Given the description of an element on the screen output the (x, y) to click on. 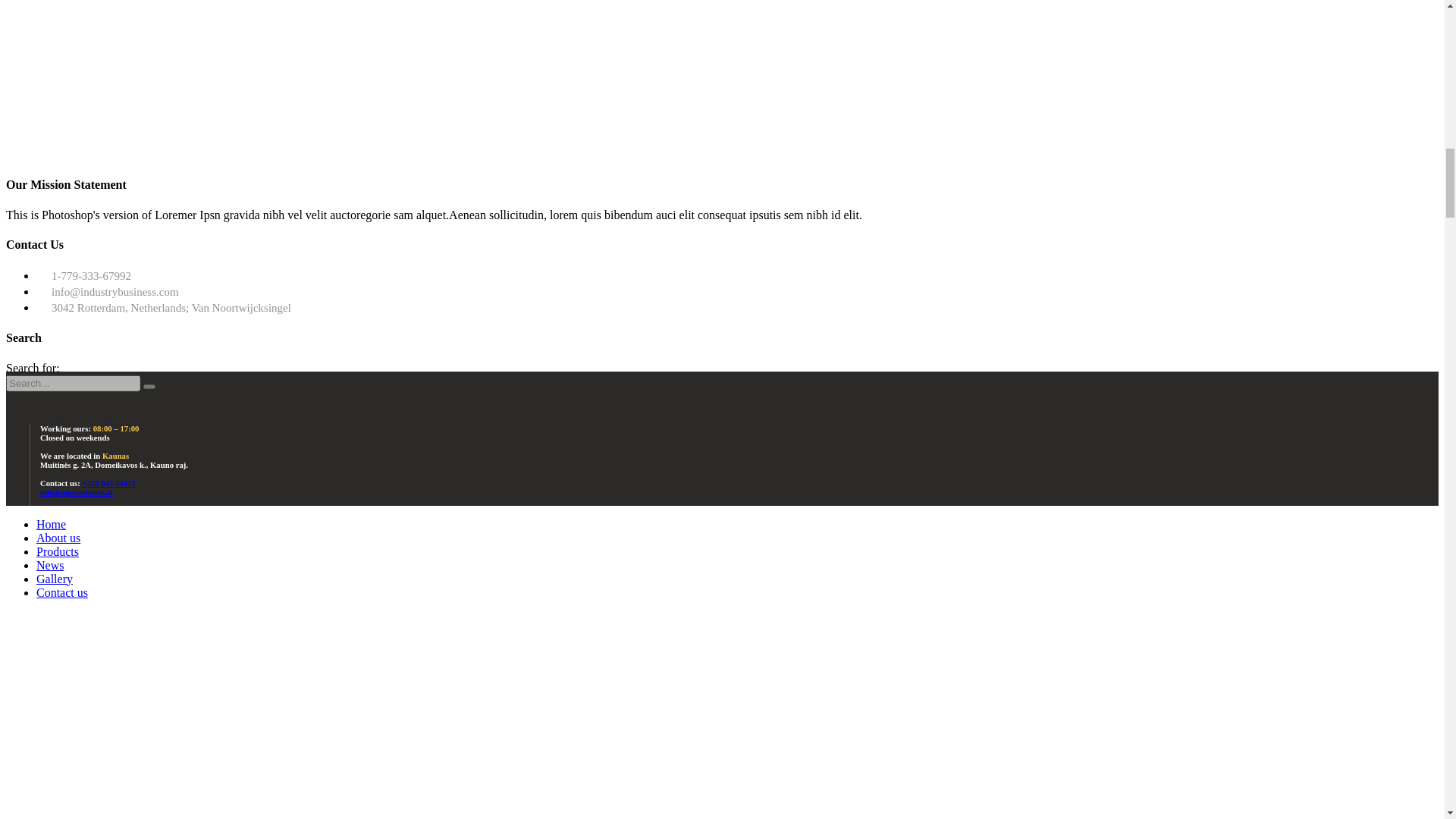
Search for: (72, 383)
Gallery (54, 578)
Products (57, 551)
About us (58, 537)
News (50, 564)
Contact us (61, 592)
Home (50, 523)
